Given the description of an element on the screen output the (x, y) to click on. 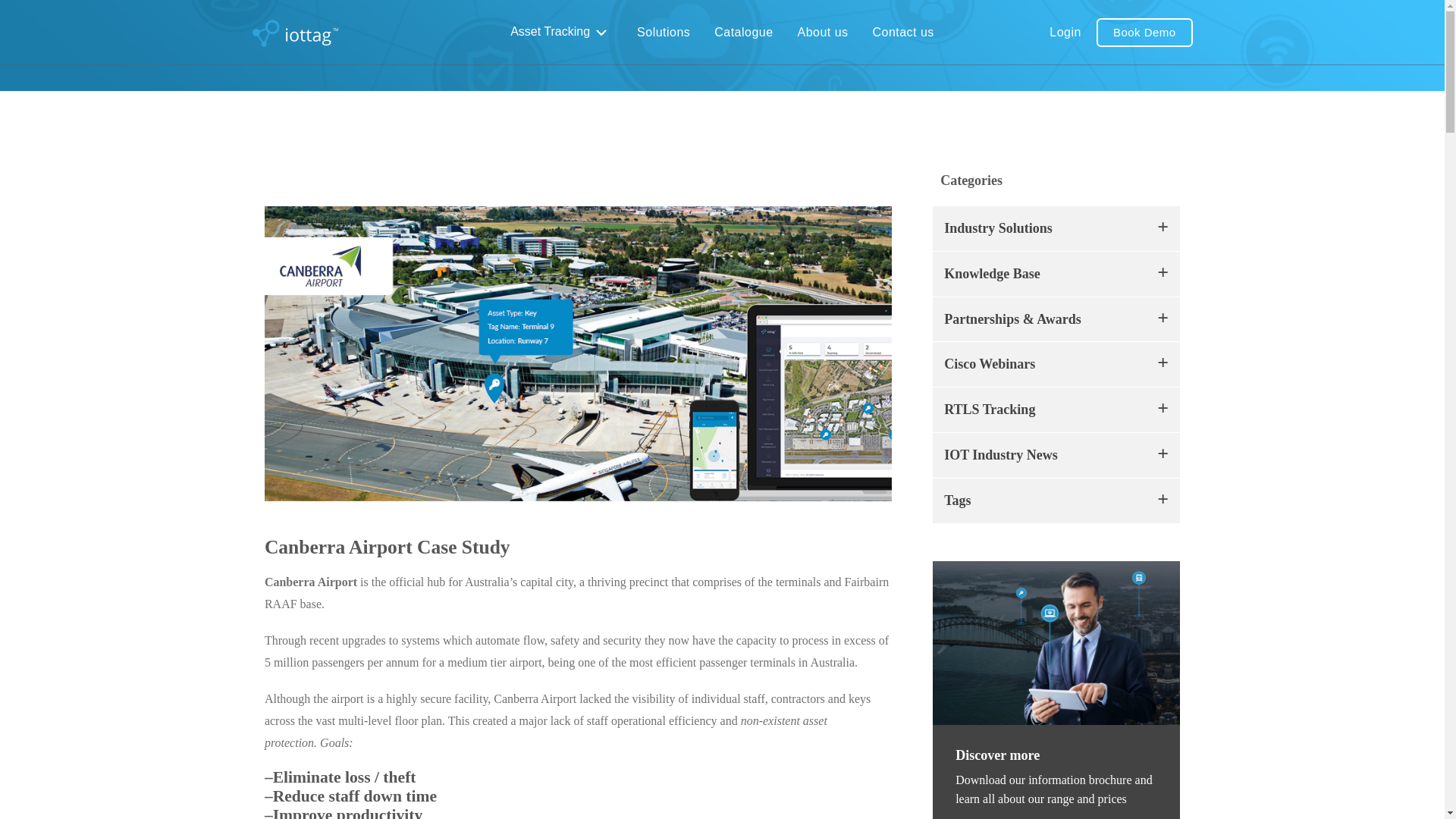
Contact us (903, 32)
About us (823, 32)
Solutions (662, 32)
Login (1064, 32)
Asset Tracking (560, 32)
Catalogue (742, 32)
Book Demo (1144, 32)
